Given the description of an element on the screen output the (x, y) to click on. 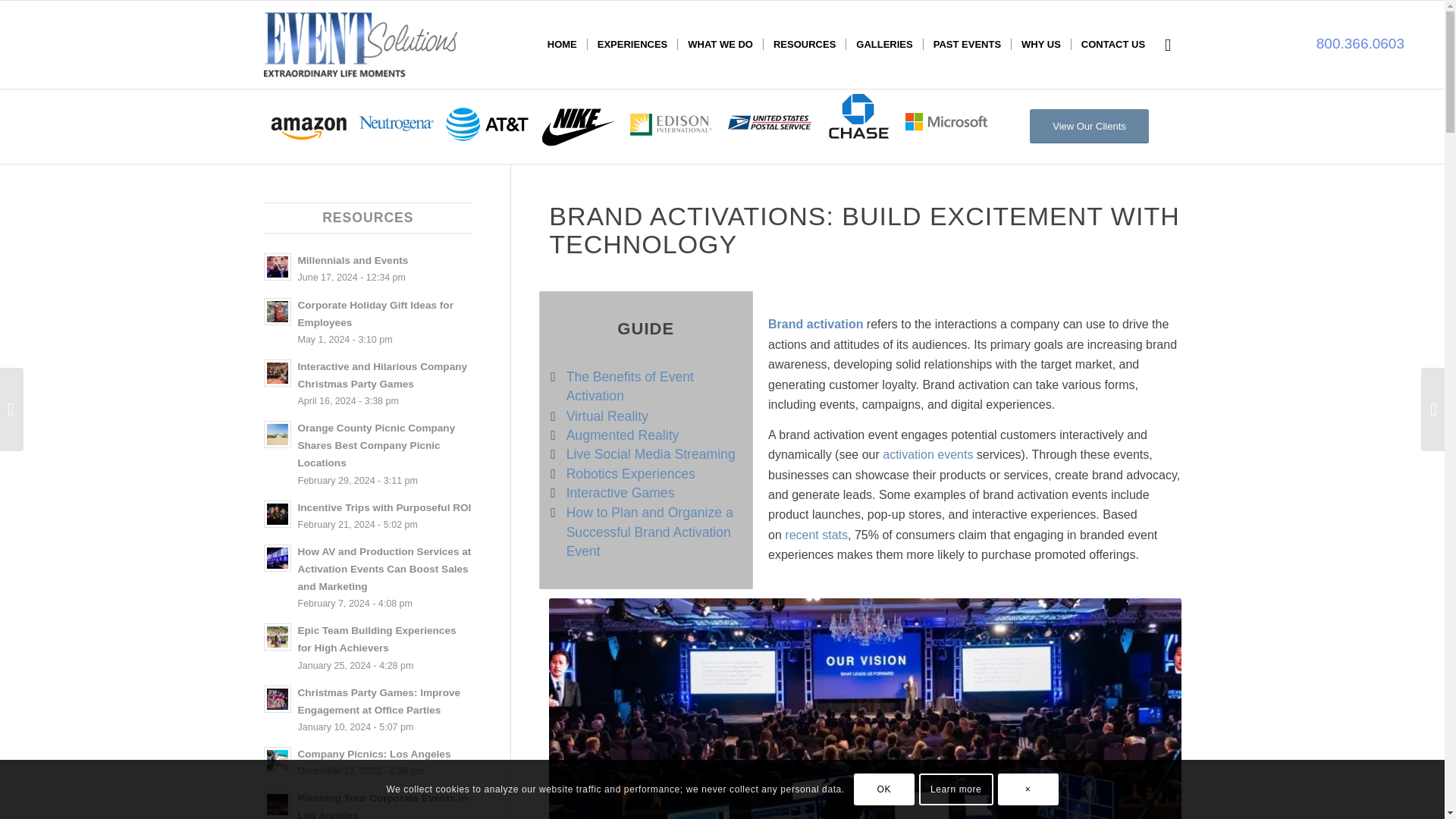
WHAT WE DO (719, 44)
EXPERIENCES (631, 44)
800.366.0603 (1360, 44)
Experiences (631, 44)
RESOURCES (803, 44)
What We Do (719, 44)
